Given the description of an element on the screen output the (x, y) to click on. 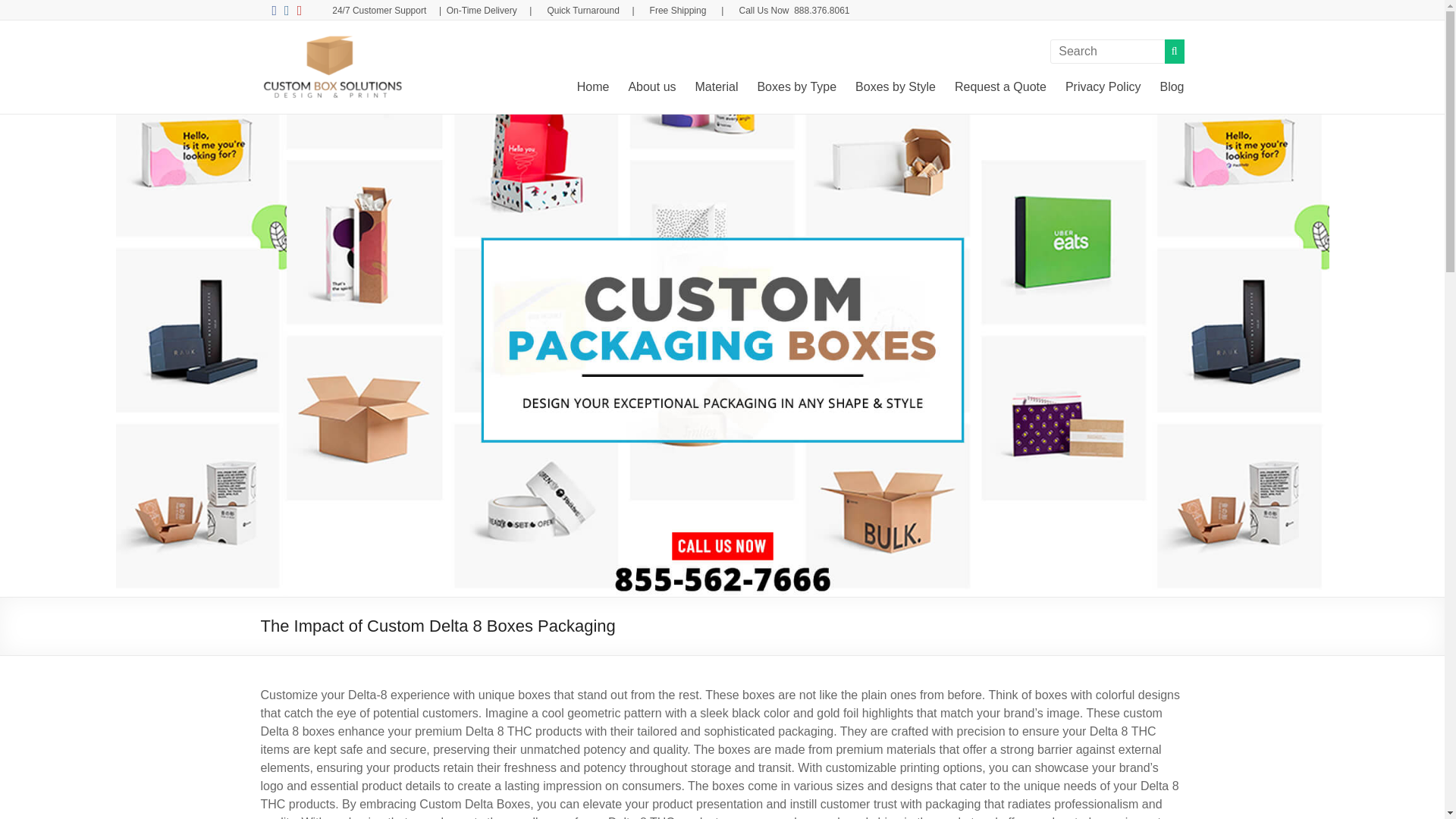
Home (593, 84)
Privacy Policy (1103, 84)
Material (716, 84)
Custom Box Printing (534, 52)
Custom Box Printing (534, 52)
Boxes by Style (896, 84)
About us (651, 84)
Request a Quote (1000, 84)
Boxes by Type (796, 84)
